Given the description of an element on the screen output the (x, y) to click on. 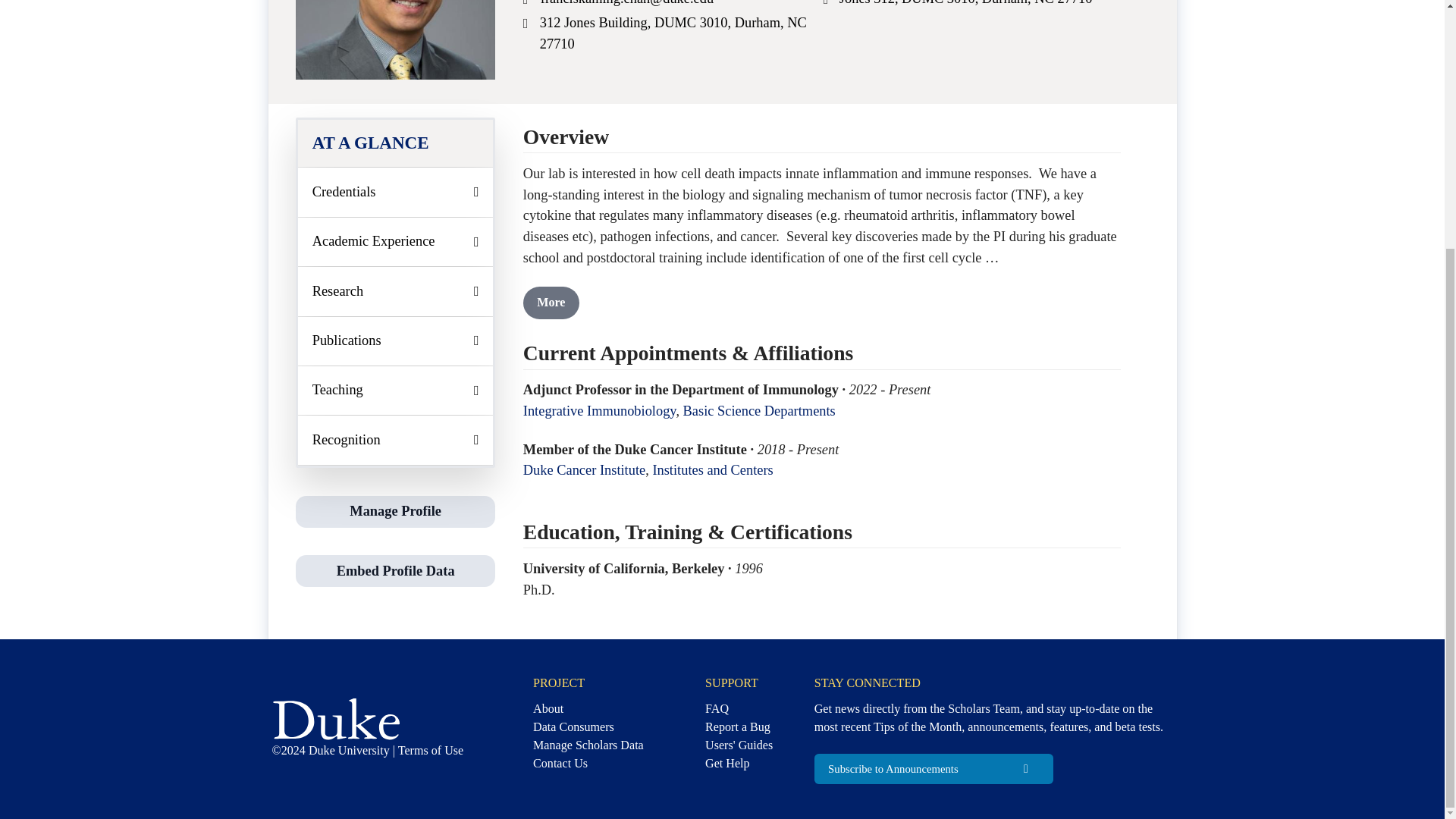
Research (395, 290)
Publications (395, 340)
Email Address (528, 4)
Recognition (395, 439)
AT A GLANCE (395, 143)
Academic Experience (395, 241)
Physical Address (827, 4)
Credentials (395, 191)
Teaching (395, 390)
